Given the description of an element on the screen output the (x, y) to click on. 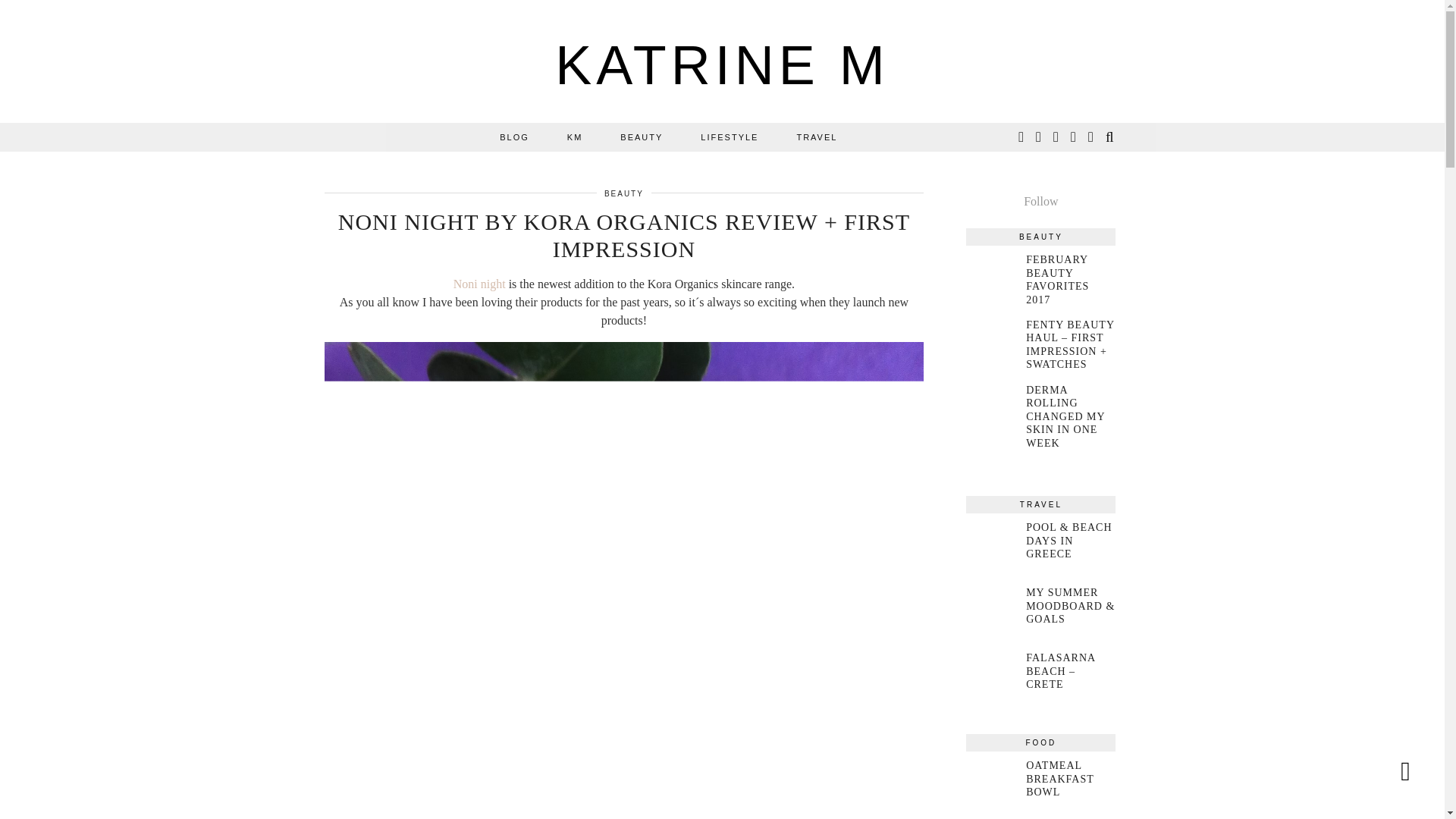
TRAVEL (816, 136)
BEAUTY (623, 193)
LIFESTYLE (729, 136)
KATRINE M (721, 65)
Noni night (478, 283)
BLOG (514, 136)
BEAUTY (641, 136)
Katrine M (721, 65)
KM (575, 136)
